Given the description of an element on the screen output the (x, y) to click on. 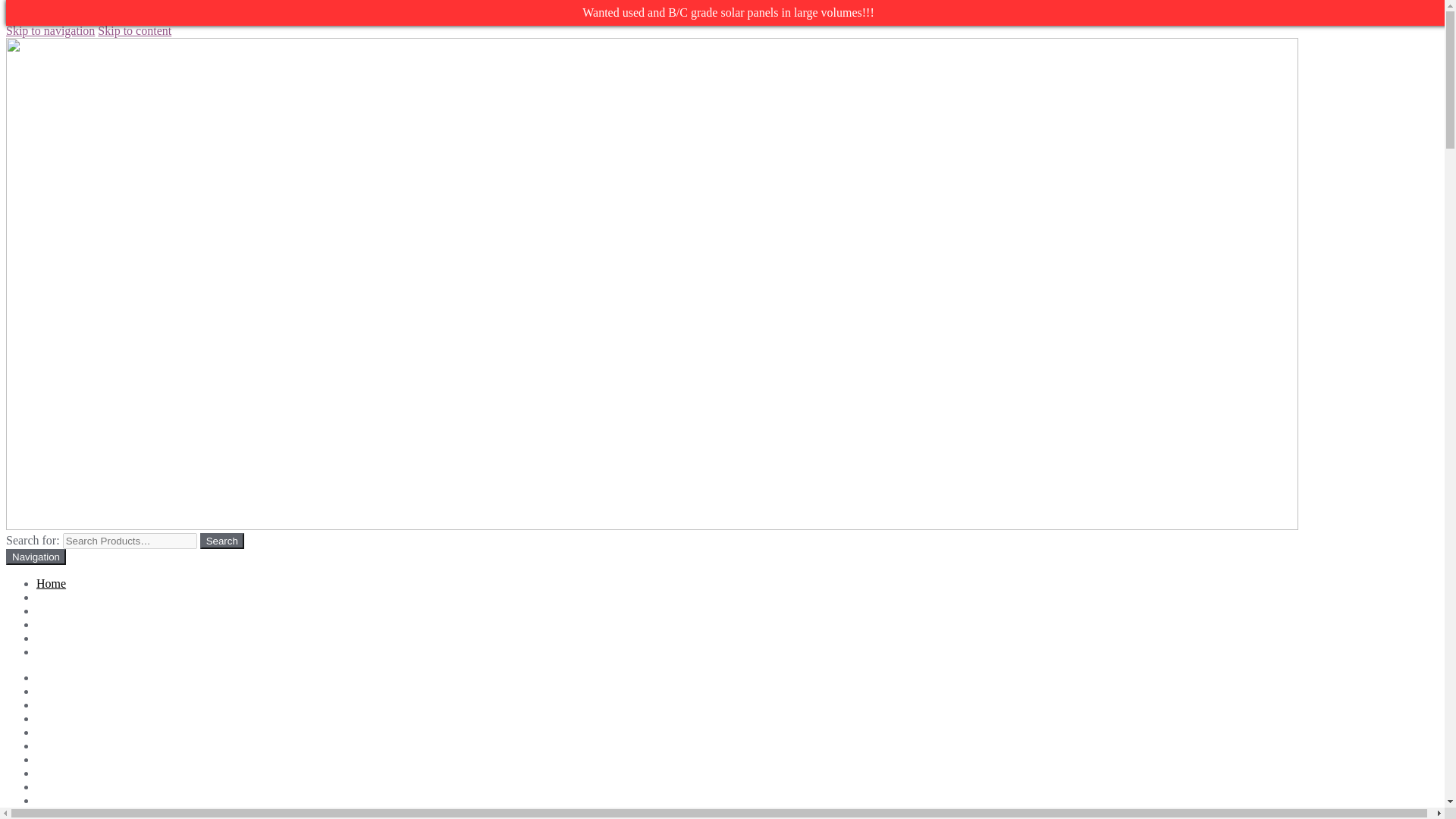
Shop (48, 786)
Contact us (61, 731)
Shop (48, 596)
Skip to navigation (49, 30)
Home (50, 583)
My Account (66, 772)
Basket (52, 704)
Testimonials (67, 637)
Skip to content (134, 30)
Sponsor a Well (73, 799)
